Given the description of an element on the screen output the (x, y) to click on. 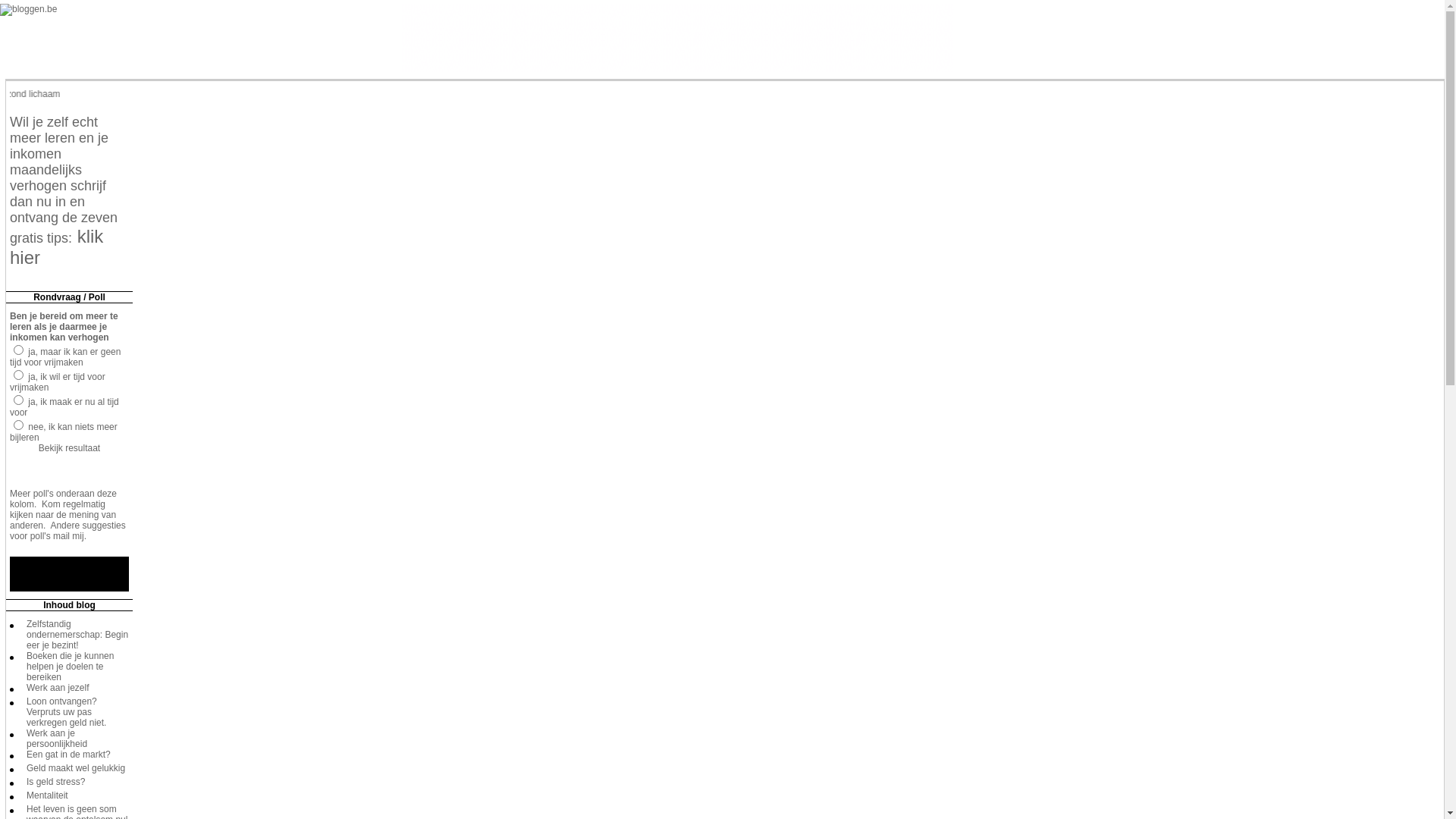
Zelfstandig ondernemerschap: Begin eer je bezint! Element type: text (77, 634)
Werk aan je persoonlijkheid Element type: text (56, 738)
Geld maakt wel gelukkig Element type: text (75, 767)
Boeken die je kunnen helpen je doelen te bereiken Element type: text (69, 666)
3rd party ad content Element type: hover (677, 37)
klik hier Element type: text (56, 250)
Een gat in de markt? Element type: text (68, 754)
Loon ontvangen? Verpruts uw pas verkregen geld niet. Element type: text (66, 712)
A4 Element type: text (18, 424)
A2 Element type: text (18, 374)
Mentaliteit Element type: text (47, 795)
Is geld stress? Element type: text (55, 781)
Werk aan jezelf Element type: text (57, 687)
A3 Element type: text (18, 399)
A1 Element type: text (18, 349)
Bekijk resultaat Element type: text (69, 447)
